Given the description of an element on the screen output the (x, y) to click on. 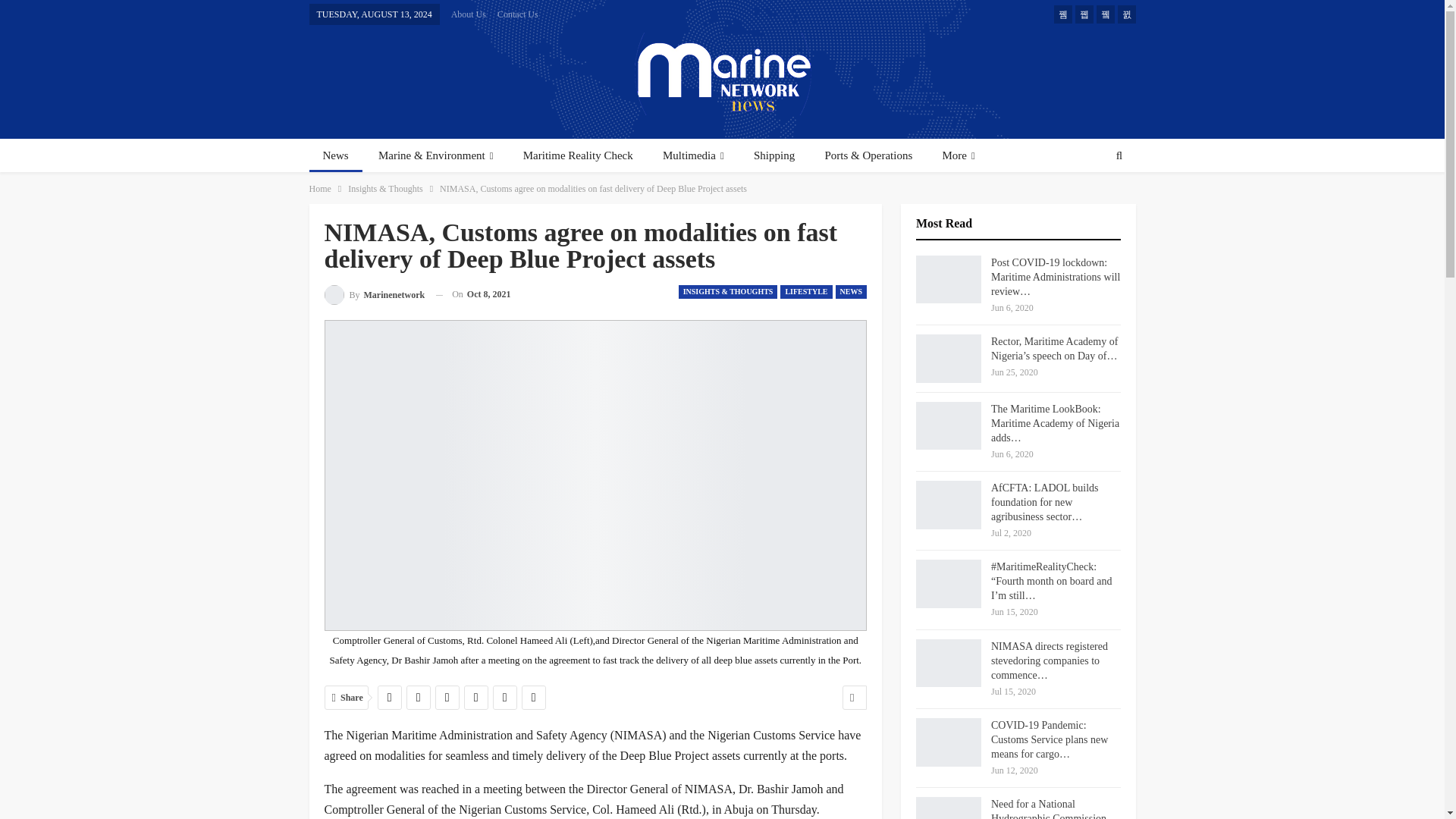
News (335, 155)
NEWS (850, 291)
LIFESTYLE (805, 291)
More (958, 155)
About Us (468, 14)
Multimedia (693, 155)
Home (319, 188)
Shipping (773, 155)
Contact Us (517, 14)
Browse Author Articles (374, 294)
